Given the description of an element on the screen output the (x, y) to click on. 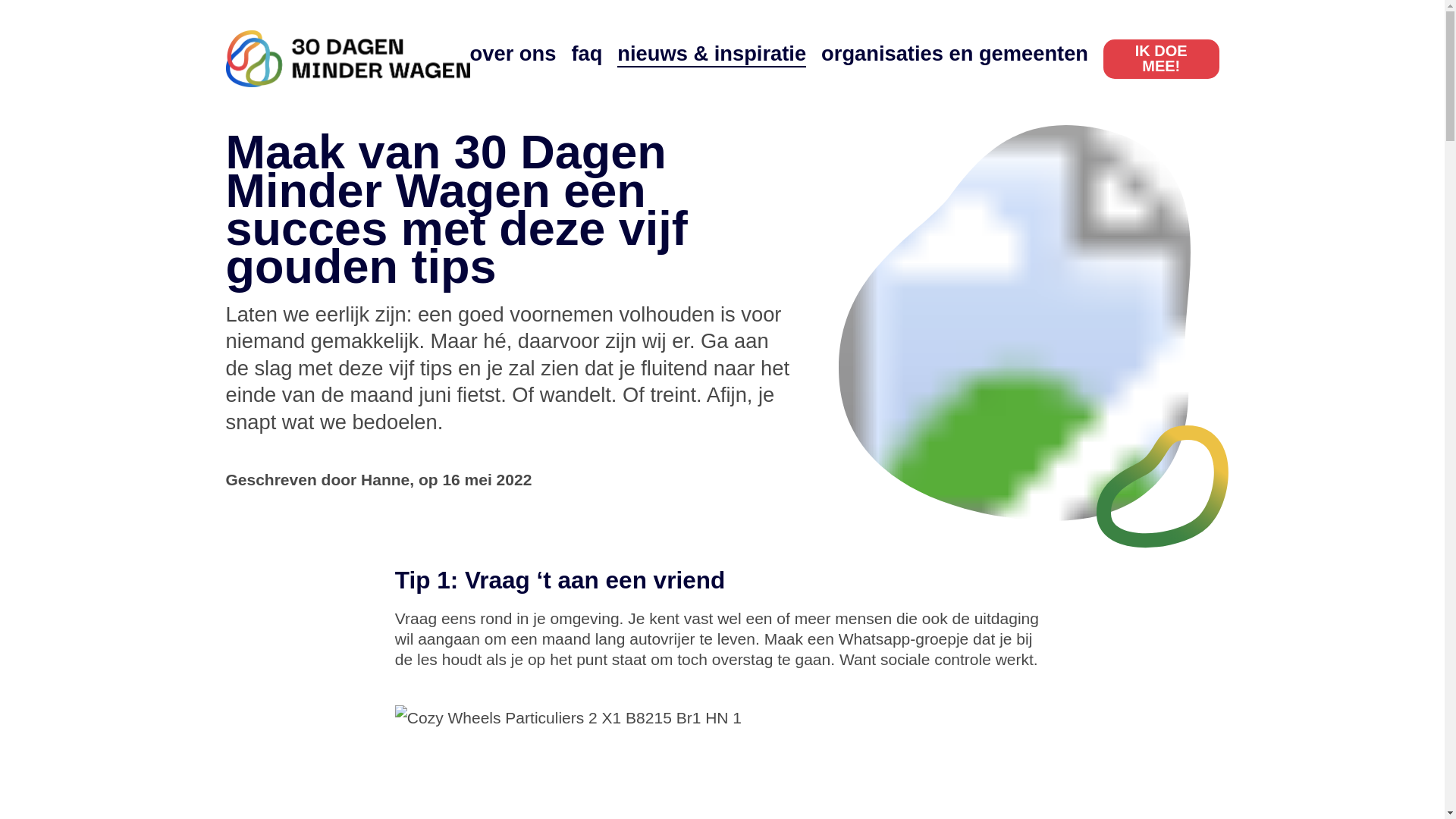
faq Element type: text (586, 53)
organisaties en gemeenten Element type: text (954, 53)
nieuws & inspiratie Element type: text (711, 53)
IK DOE MEE! Element type: text (1160, 58)
over ons Element type: text (513, 53)
